Given the description of an element on the screen output the (x, y) to click on. 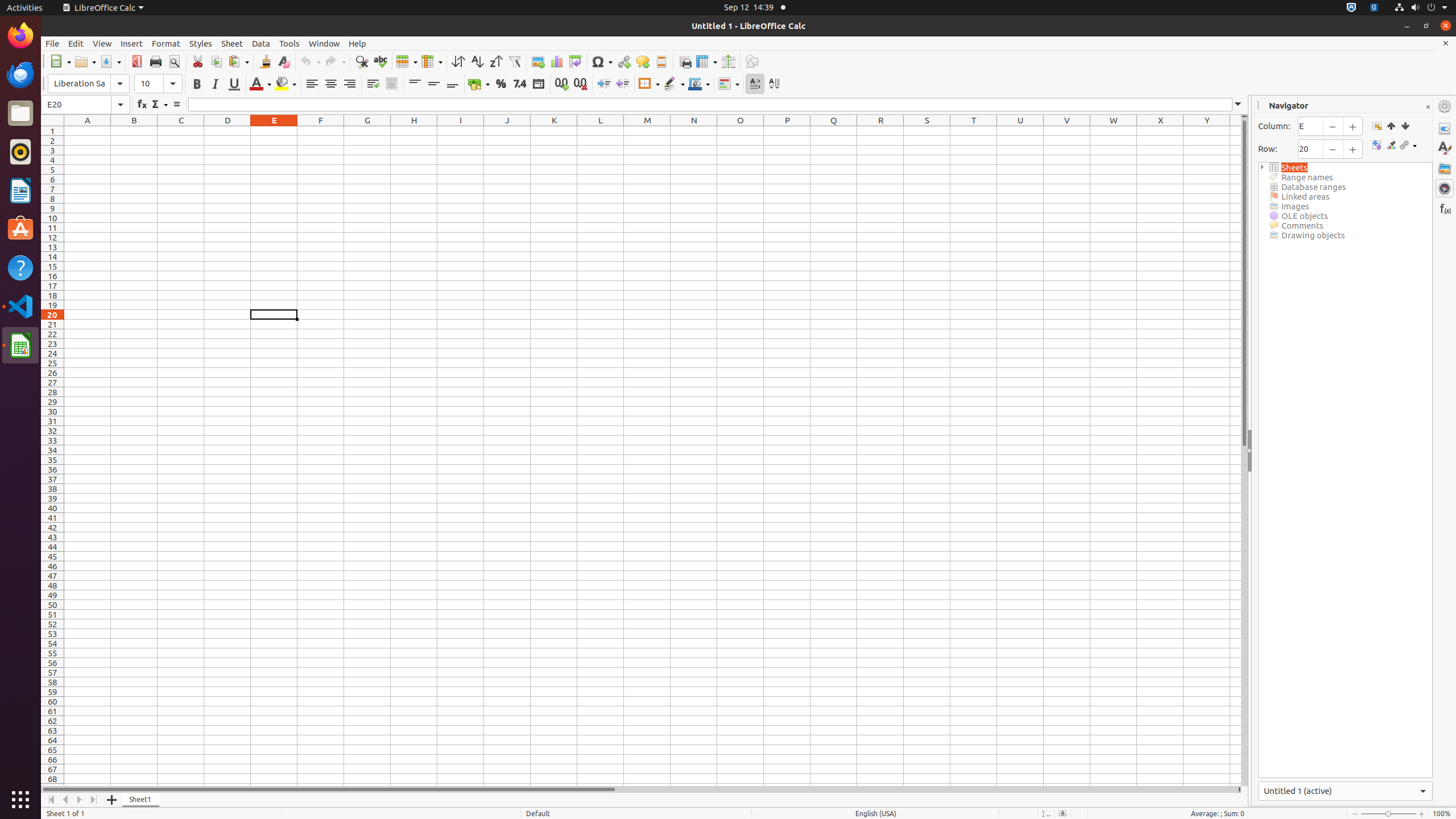
Font Name Element type: combo-box (88, 83)
Clone Element type: push-button (264, 61)
Print Element type: push-button (155, 61)
Font Color Element type: push-button (260, 83)
Insert Element type: menu (131, 43)
